Given the description of an element on the screen output the (x, y) to click on. 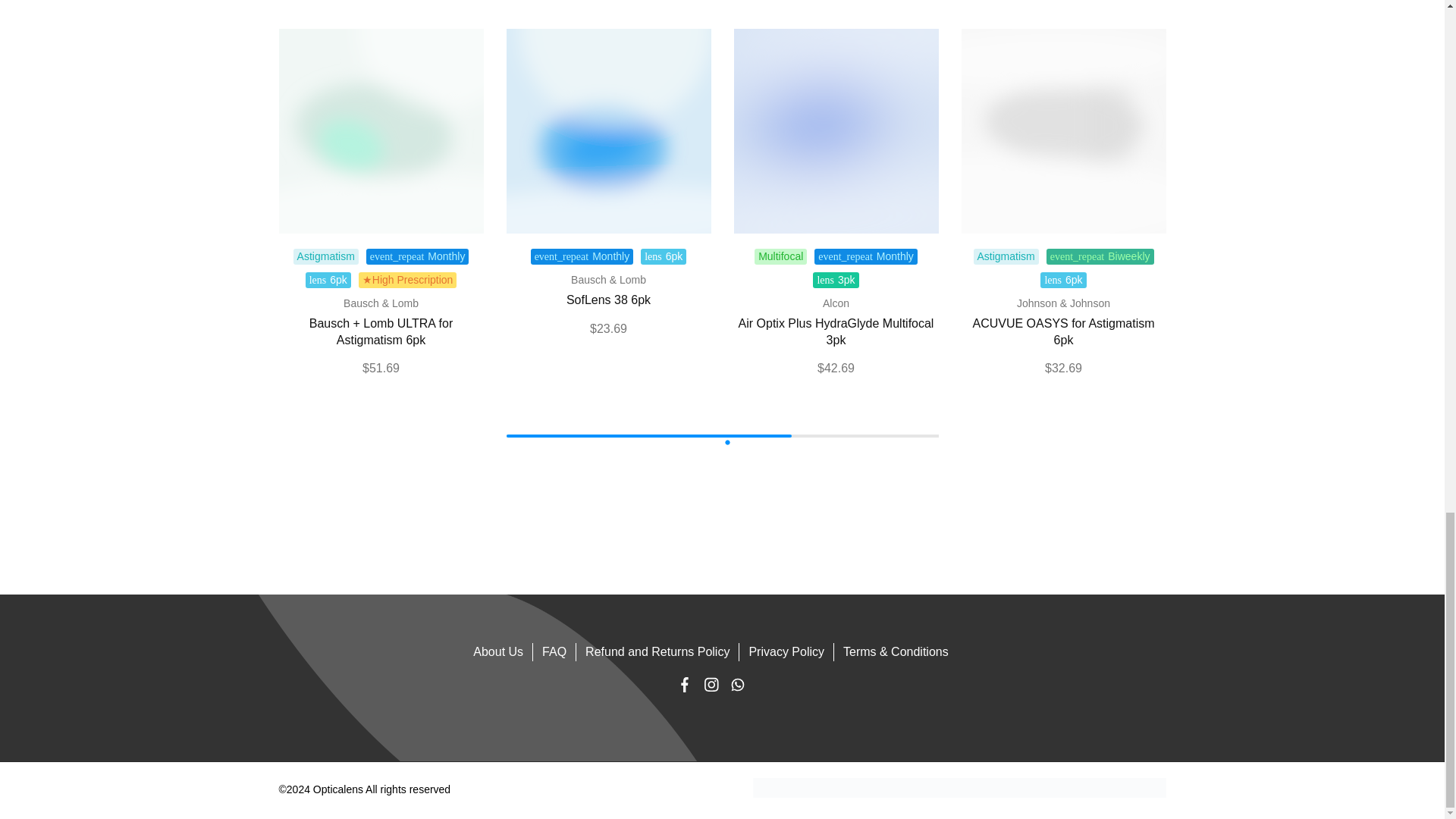
Instagram (710, 686)
Whatsapp (737, 686)
Facebook (684, 686)
